Given the description of an element on the screen output the (x, y) to click on. 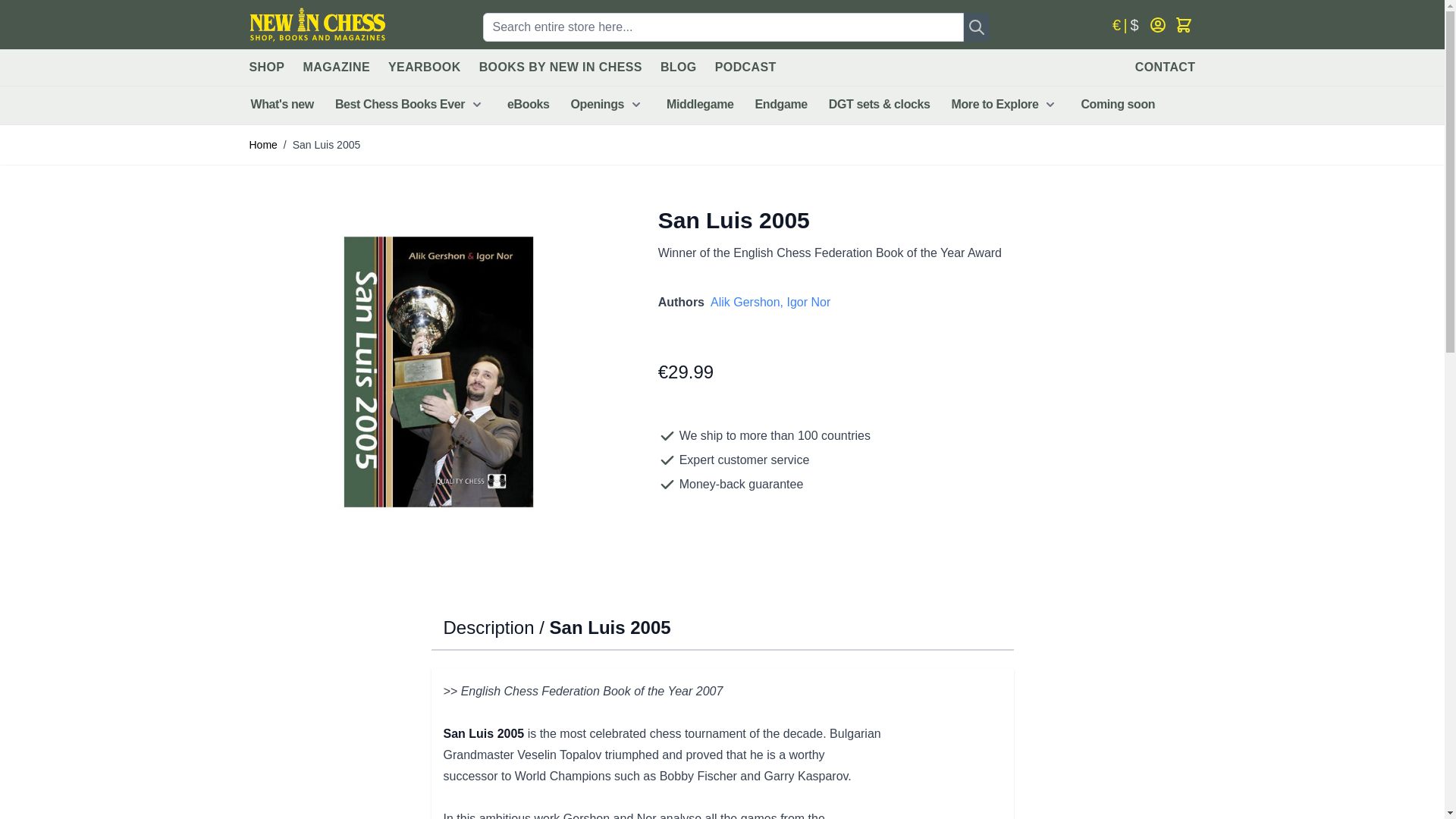
YEARBOOK (424, 67)
Go to Home page (316, 24)
CONTACT (1165, 67)
What's new (281, 104)
BOOKS BY NEW IN CHESS (560, 67)
BLOG (679, 67)
SHOP (265, 67)
Search (976, 26)
PODCAST (745, 67)
MAGAZINE (335, 67)
